Given the description of an element on the screen output the (x, y) to click on. 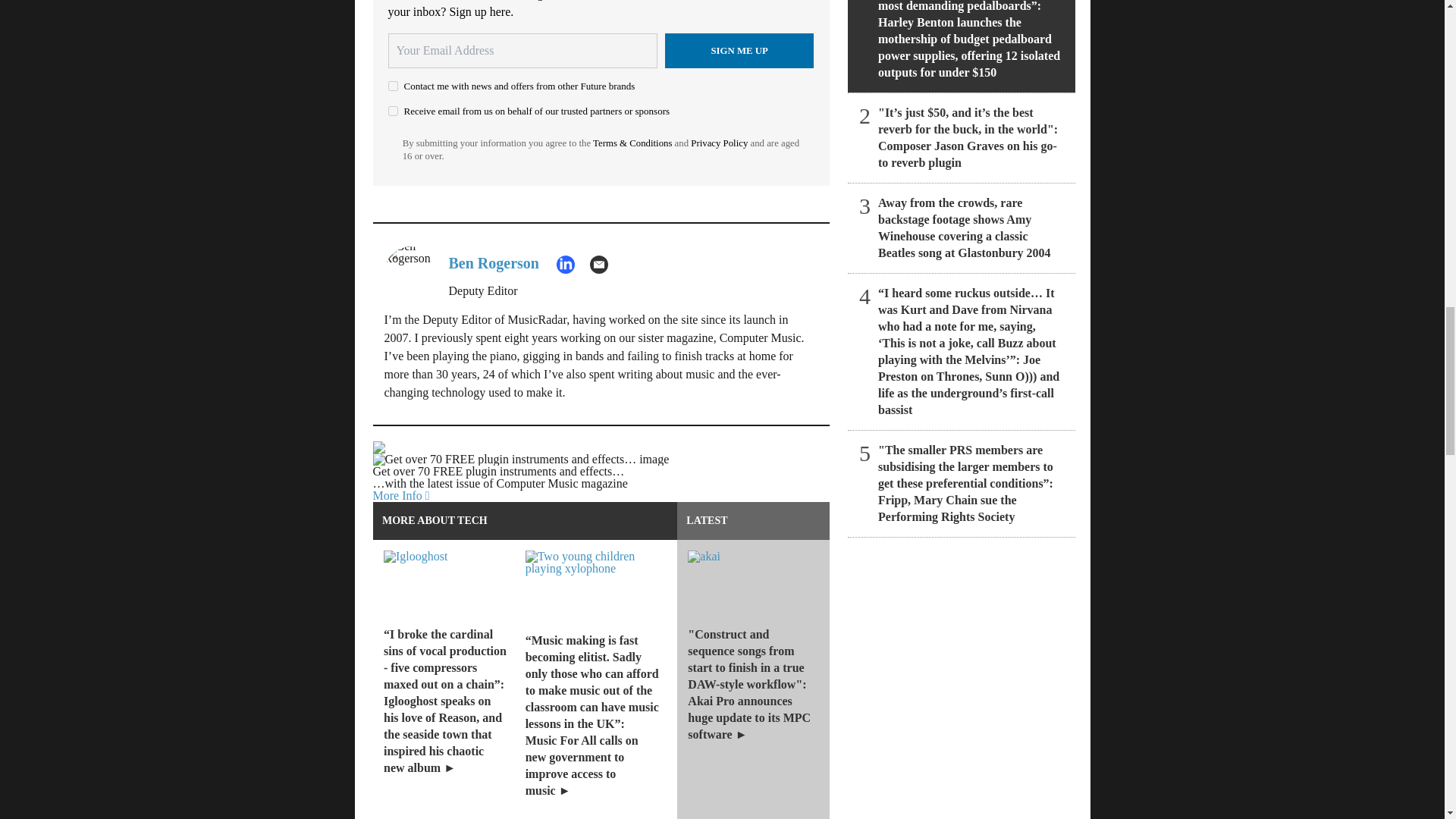
Sign me up (739, 50)
on (392, 111)
on (392, 85)
